Given the description of an element on the screen output the (x, y) to click on. 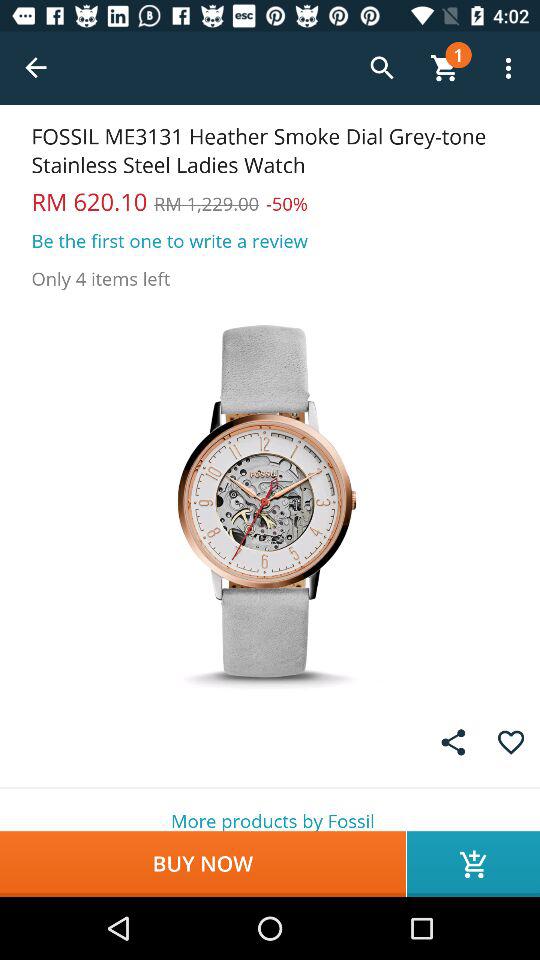
go back (36, 68)
